Given the description of an element on the screen output the (x, y) to click on. 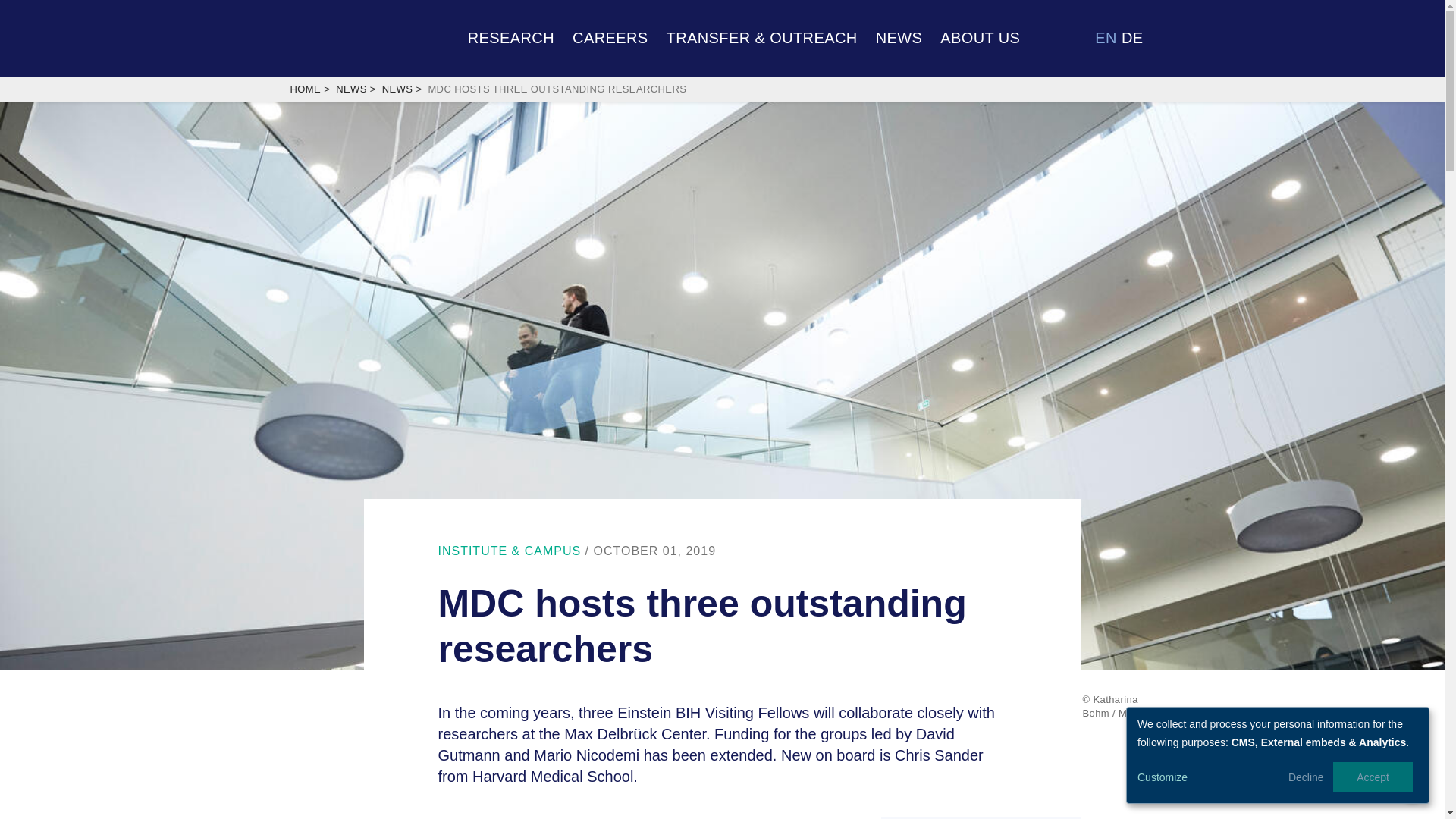
CAREERS (610, 36)
RESEARCH (510, 36)
English (1105, 37)
Deutsch (1131, 37)
